Given the description of an element on the screen output the (x, y) to click on. 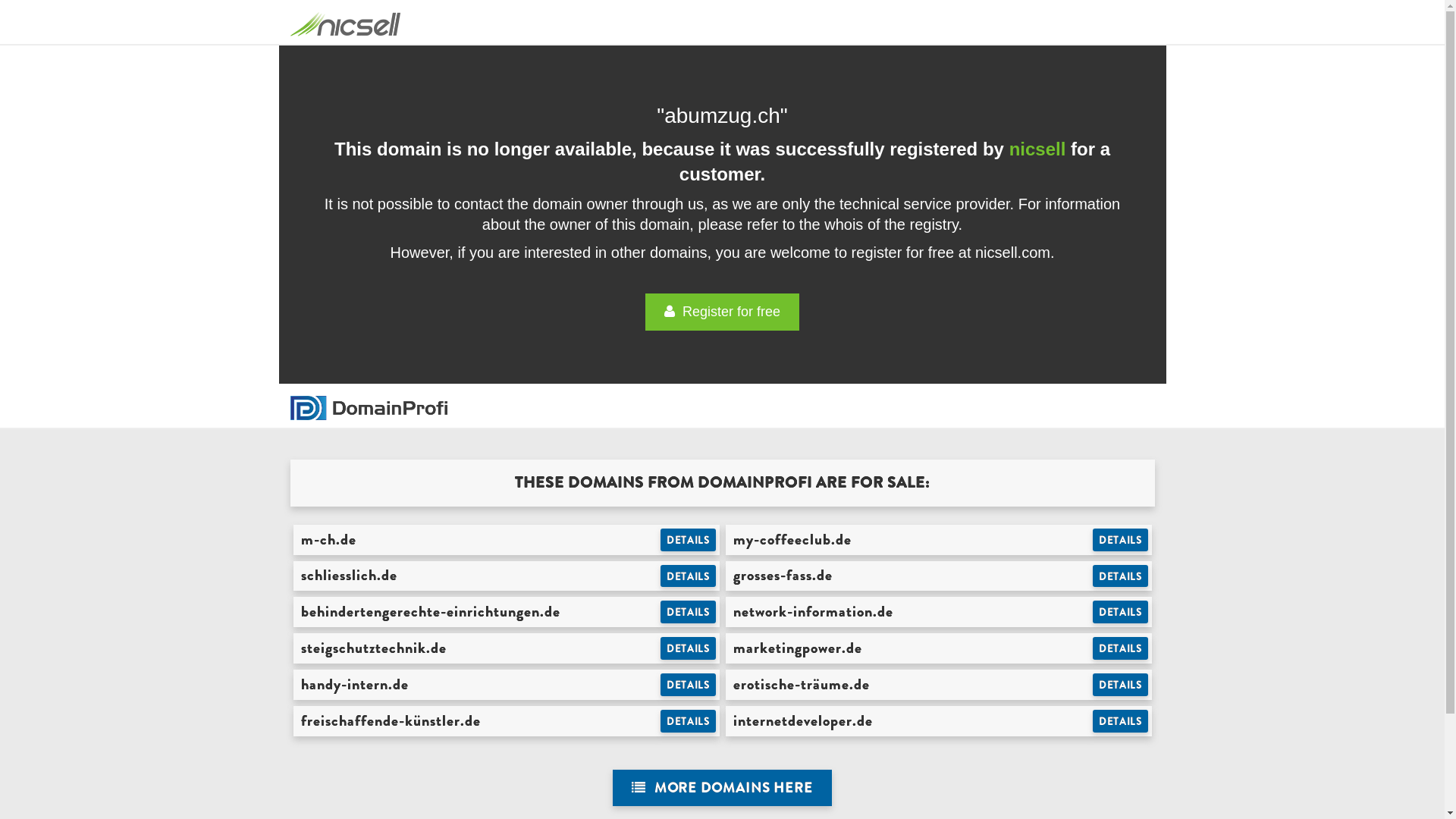
DETAILS Element type: text (1120, 648)
DETAILS Element type: text (1120, 539)
DETAILS Element type: text (687, 720)
DETAILS Element type: text (1120, 720)
DETAILS Element type: text (687, 575)
DETAILS Element type: text (687, 539)
DETAILS Element type: text (687, 648)
DETAILS Element type: text (687, 611)
  MORE DOMAINS HERE Element type: text (721, 787)
DETAILS Element type: text (1120, 611)
DETAILS Element type: text (1120, 684)
  Register for free Element type: text (722, 311)
DETAILS Element type: text (1120, 575)
DETAILS Element type: text (687, 684)
nicsell Element type: text (1037, 148)
